Given the description of an element on the screen output the (x, y) to click on. 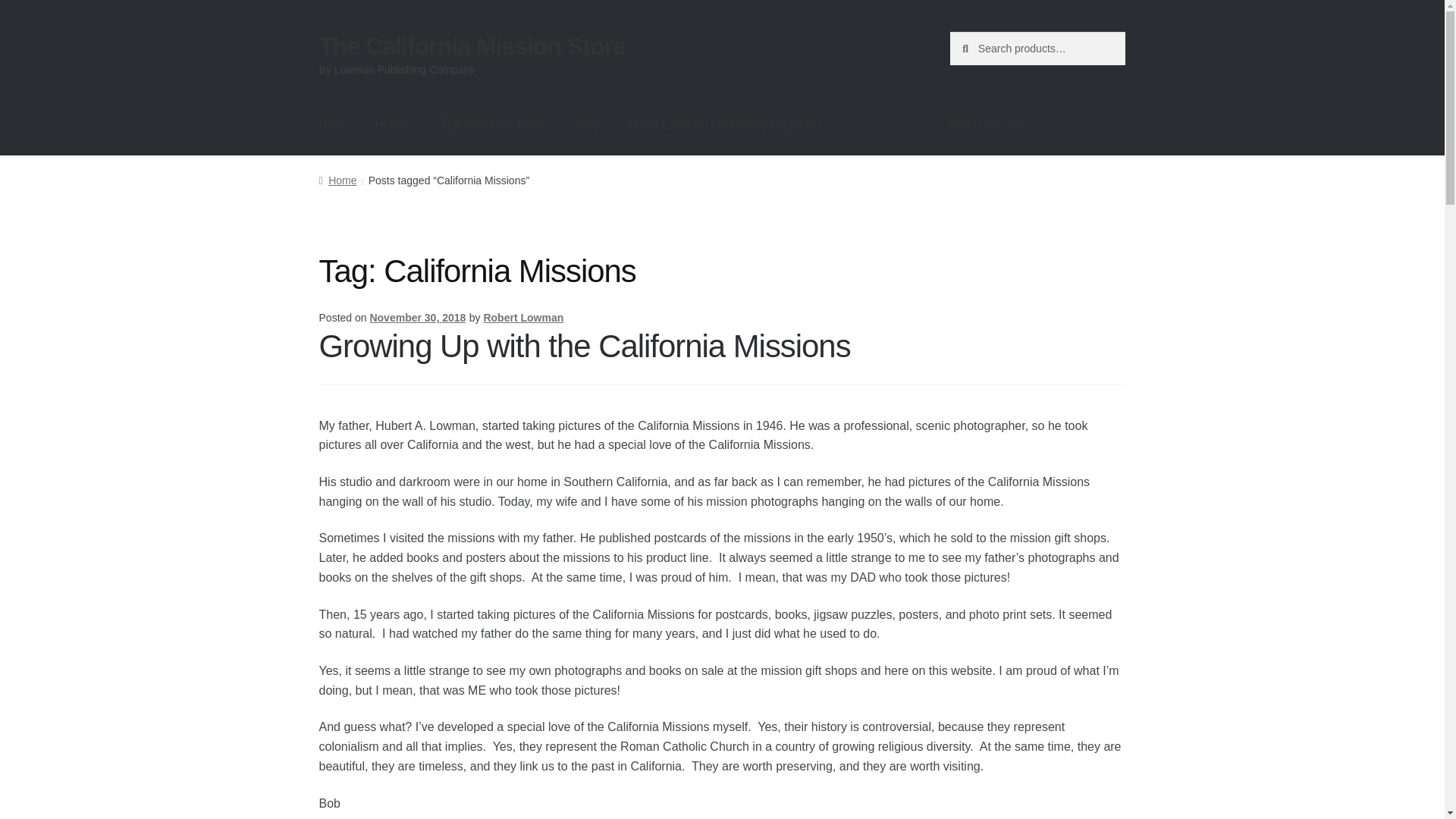
Growing Up with the California Missions (584, 345)
The Missions Today (493, 124)
Home (337, 180)
November 30, 2018 (417, 317)
View your shopping cart (1037, 124)
The California Mission Store (472, 45)
Robert Lowman (523, 317)
About Lowman Publishing Company (724, 124)
History (393, 124)
